Given the description of an element on the screen output the (x, y) to click on. 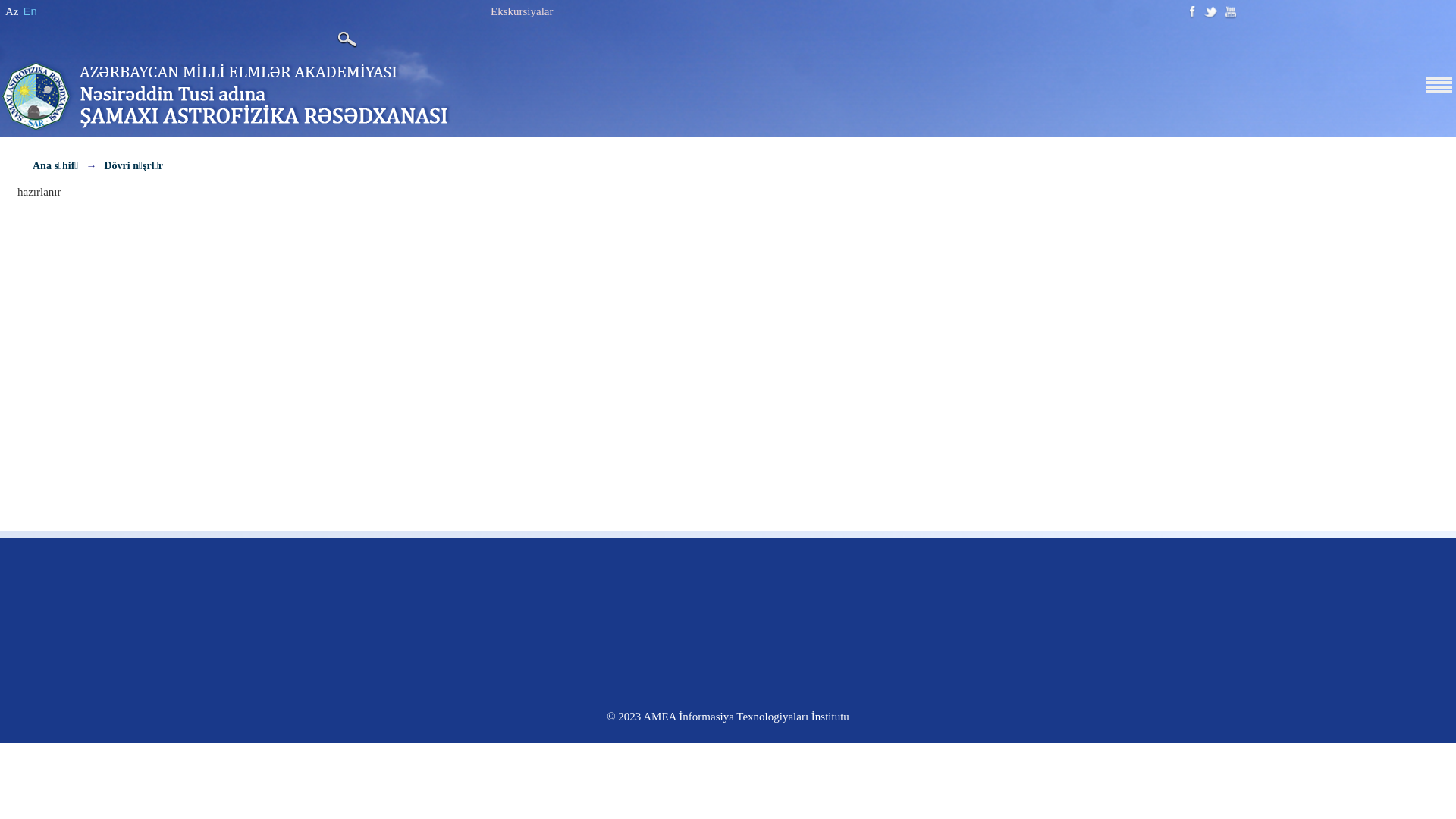
a Element type: text (1230, 12)
a Element type: text (1192, 12)
Ekskursiyalar Element type: text (521, 11)
a Element type: text (1210, 12)
Az Element type: text (11, 11)
En Element type: text (29, 10)
